Given the description of an element on the screen output the (x, y) to click on. 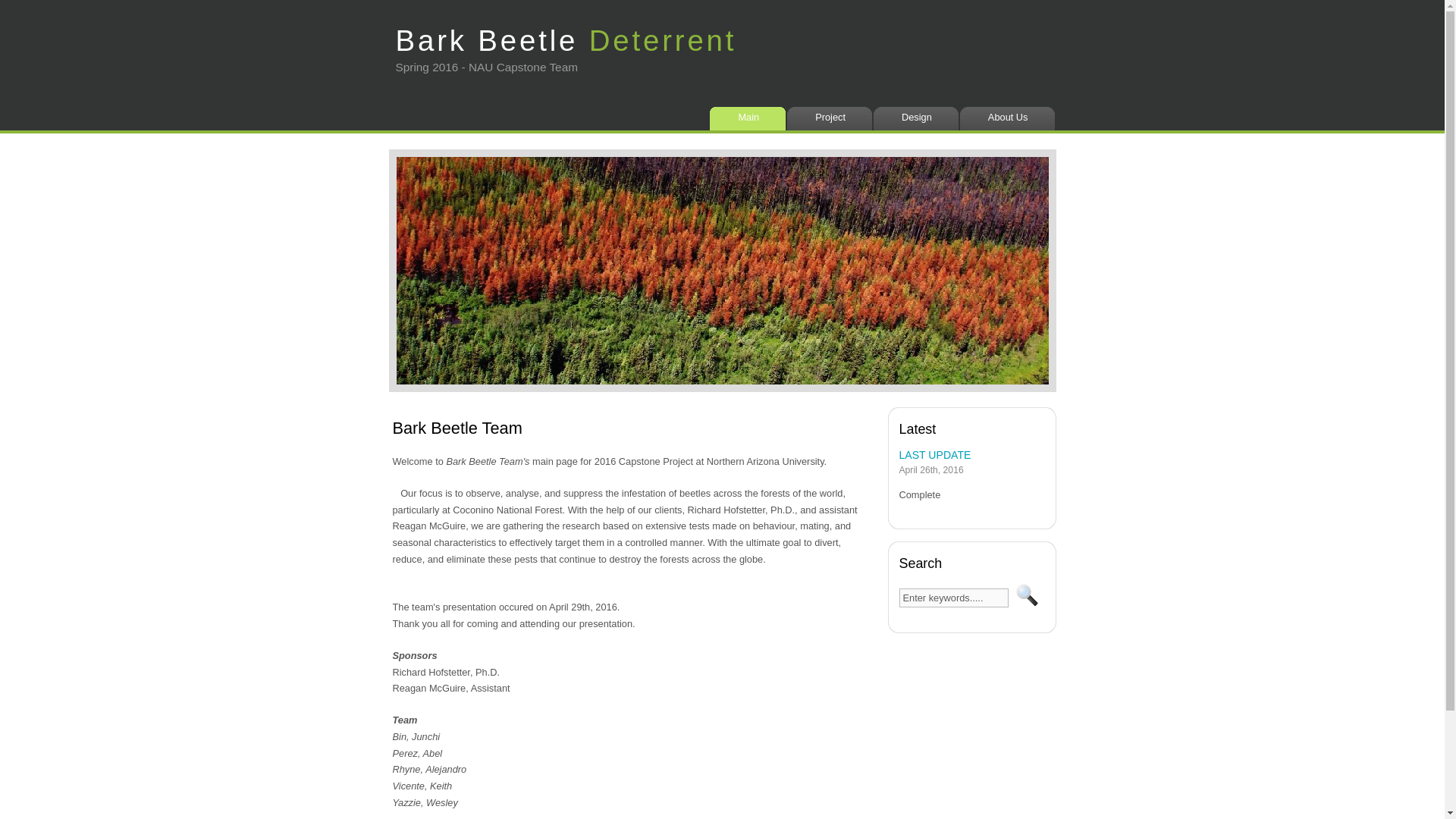
Project (832, 118)
Search (1026, 595)
Bark Beetle Deterrent (566, 31)
Design (919, 118)
Enter keywords..... (954, 597)
Enter keywords..... (954, 597)
About Us (1010, 118)
Main (751, 118)
